Given the description of an element on the screen output the (x, y) to click on. 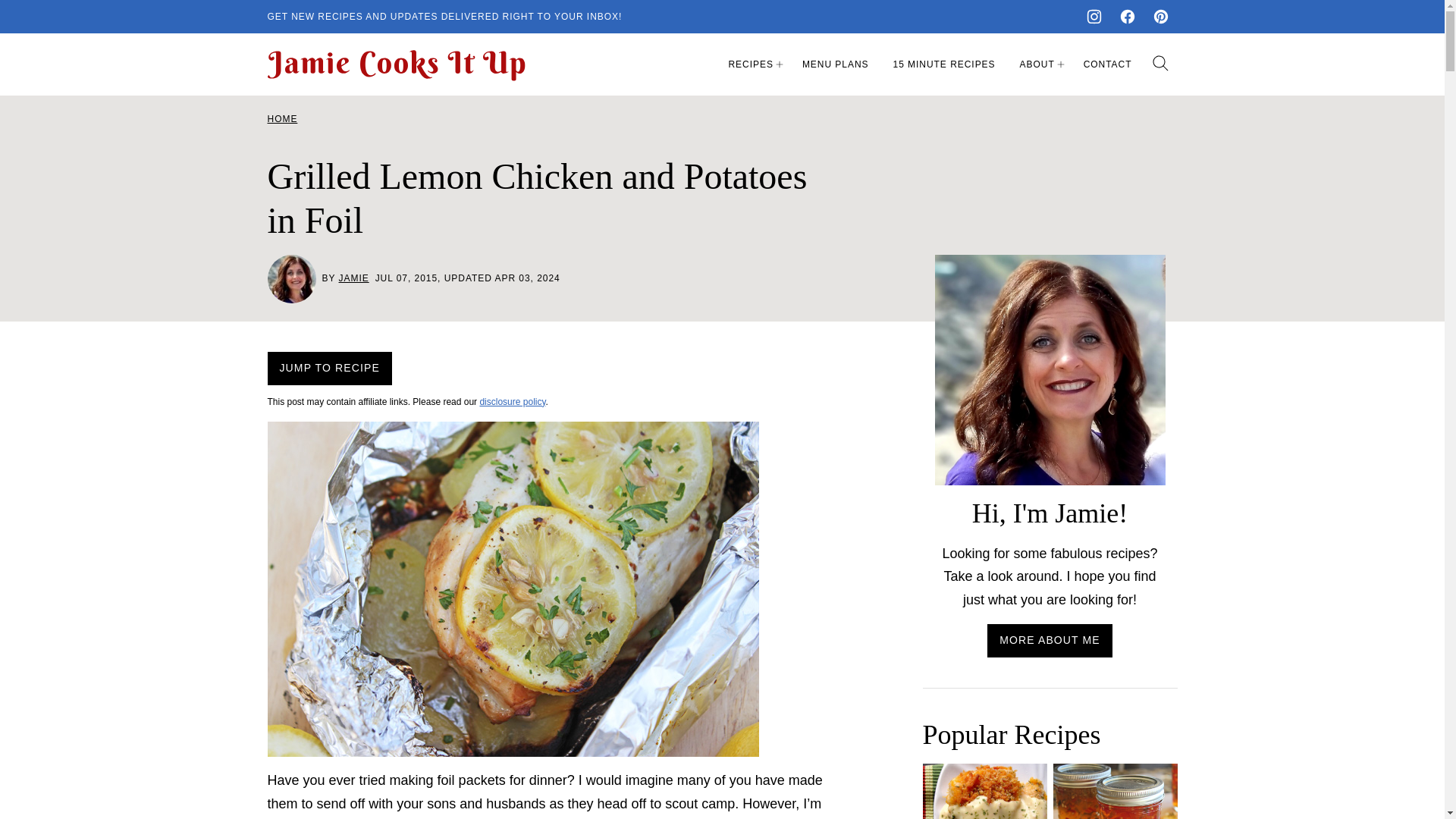
MENU PLANS (835, 63)
GET NEW RECIPES AND UPDATES DELIVERED RIGHT TO YOUR INBOX! (443, 16)
15 MINUTE RECIPES (943, 63)
RECIPES (752, 63)
ABOUT (1039, 63)
